Given the description of an element on the screen output the (x, y) to click on. 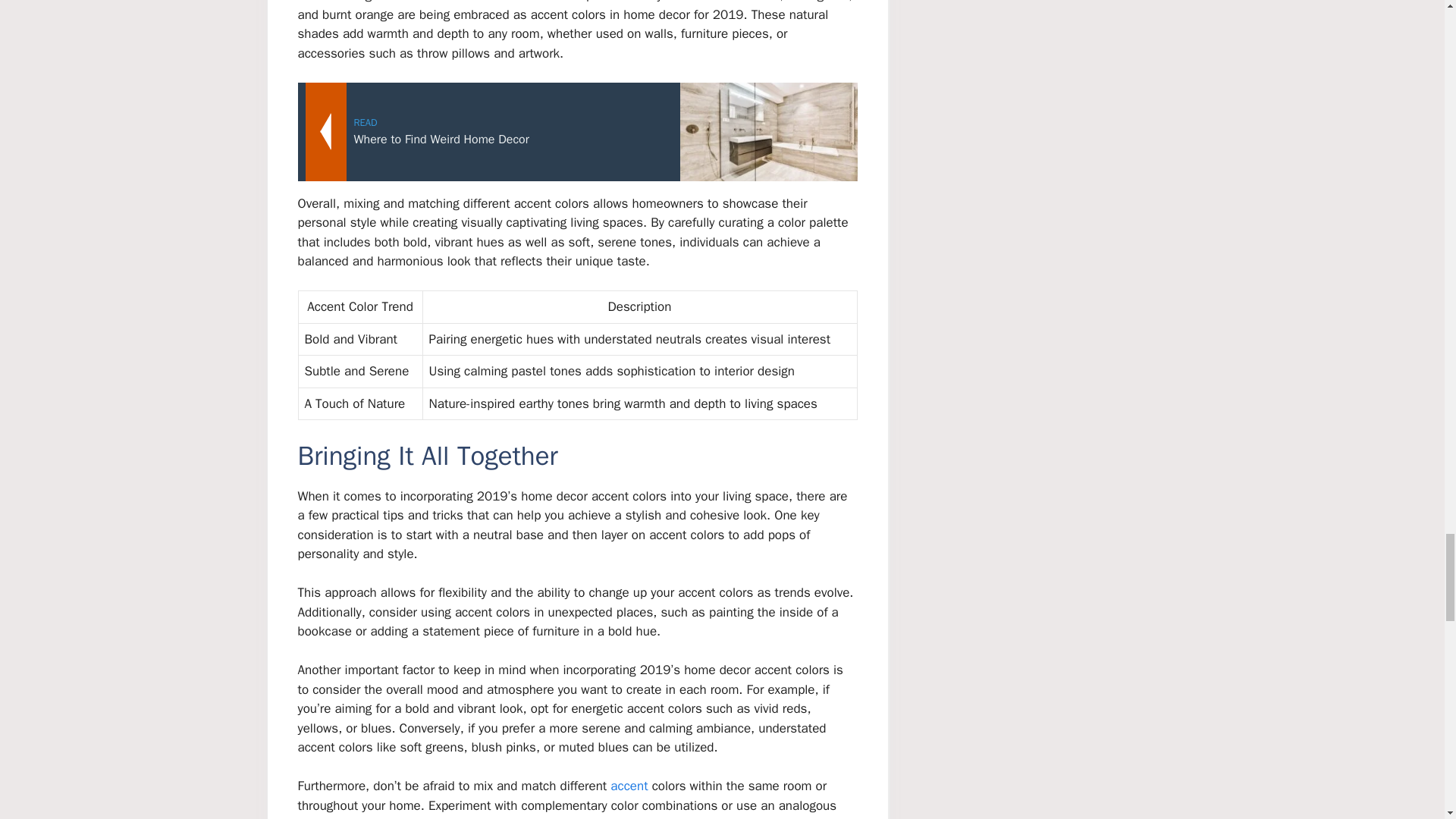
accent (628, 785)
